Given the description of an element on the screen output the (x, y) to click on. 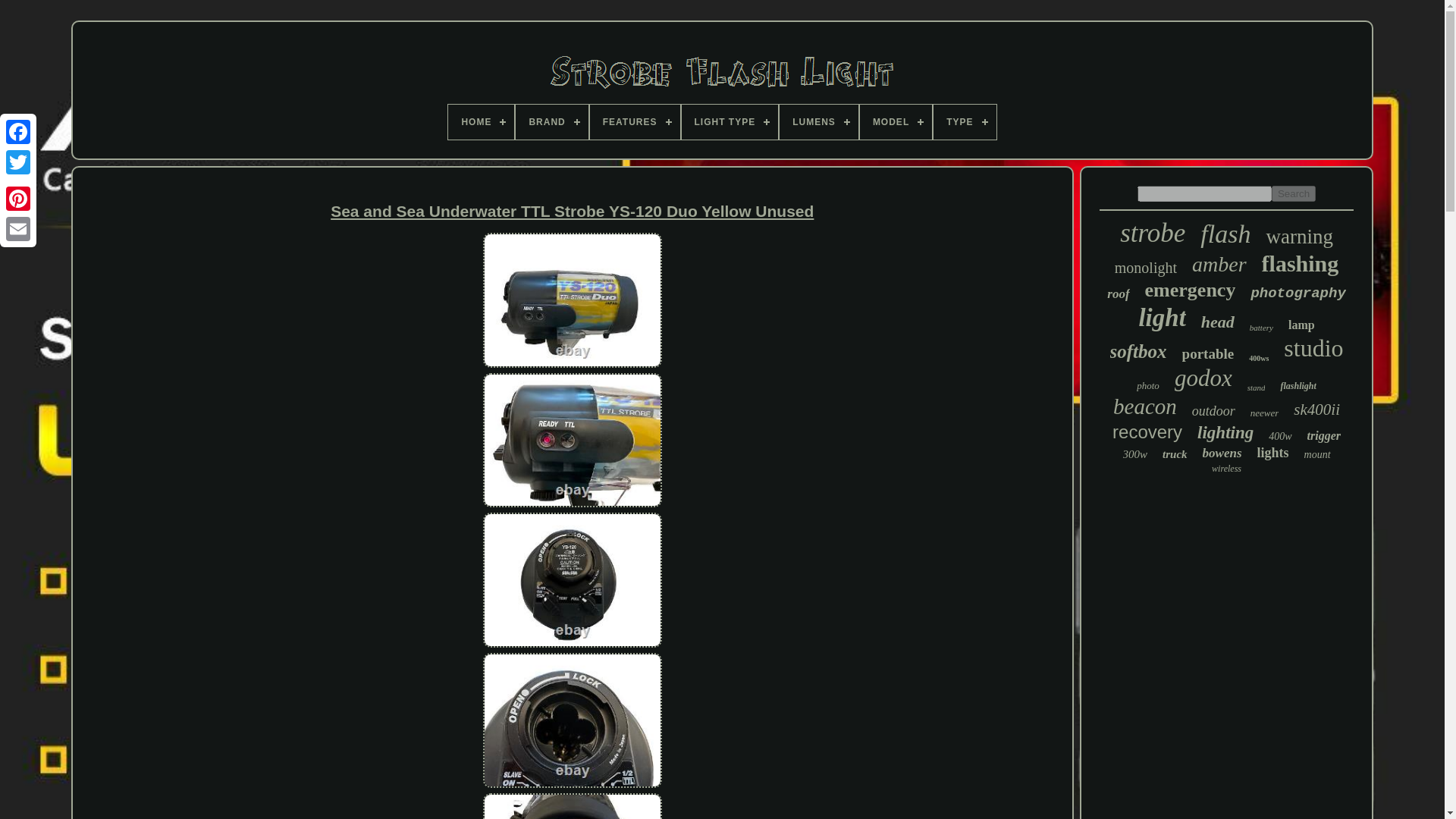
Sea and Sea Underwater TTL Strobe YS-120 Duo Yellow Unused (572, 440)
Sea And Sea Underwater Ttl Strobe Ys-120 Duo Yellow Unused (571, 441)
Sea and Sea Underwater TTL Strobe YS-120 Duo Yellow Unused (572, 579)
Sea and Sea Underwater TTL Strobe YS-120 Duo Yellow Unused (572, 299)
HOME (480, 121)
Sea And Sea Underwater Ttl Strobe Ys-120 Duo Yellow Unused (571, 581)
Search (1293, 193)
Sea and Sea Underwater TTL Strobe YS-120 Duo Yellow Unused (572, 806)
Sea And Sea Underwater Ttl Strobe Ys-120 Duo Yellow Unused (571, 210)
Sea And Sea Underwater Ttl Strobe Ys-120 Duo Yellow Unused (571, 721)
Sea And Sea Underwater Ttl Strobe Ys-120 Duo Yellow Unused (571, 300)
Sea And Sea Underwater Ttl Strobe Ys-120 Duo Yellow Unused (571, 805)
Sea and Sea Underwater TTL Strobe YS-120 Duo Yellow Unused (572, 719)
BRAND (551, 121)
FEATURES (634, 121)
